Given the description of an element on the screen output the (x, y) to click on. 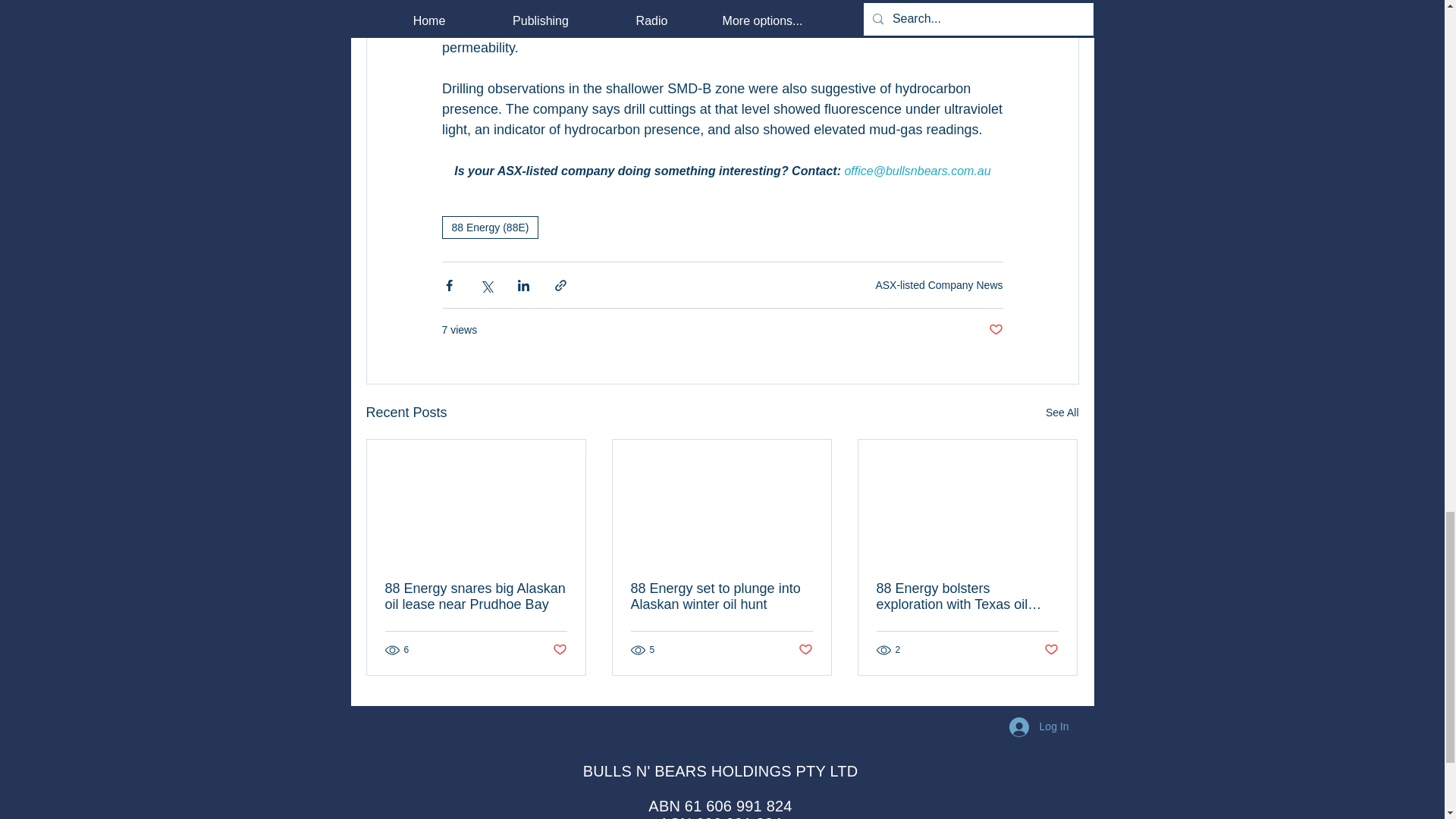
Post not marked as liked (558, 650)
ASX-listed Company News (939, 285)
See All (1061, 413)
88 Energy snares big Alaskan oil lease near Prudhoe Bay (476, 596)
Post not marked as liked (995, 330)
